Given the description of an element on the screen output the (x, y) to click on. 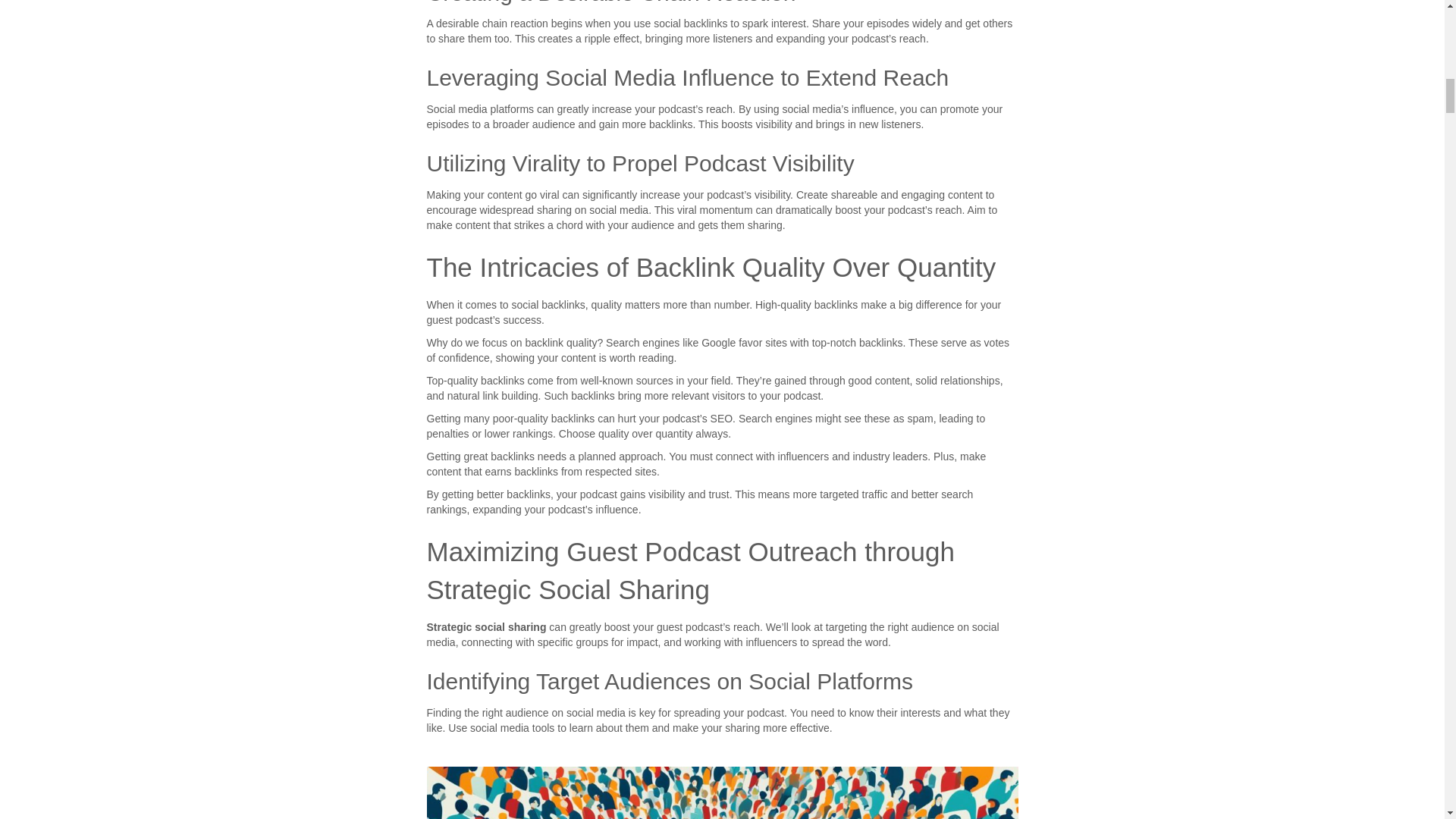
identifying target audience for podcast promotion (721, 792)
